Given the description of an element on the screen output the (x, y) to click on. 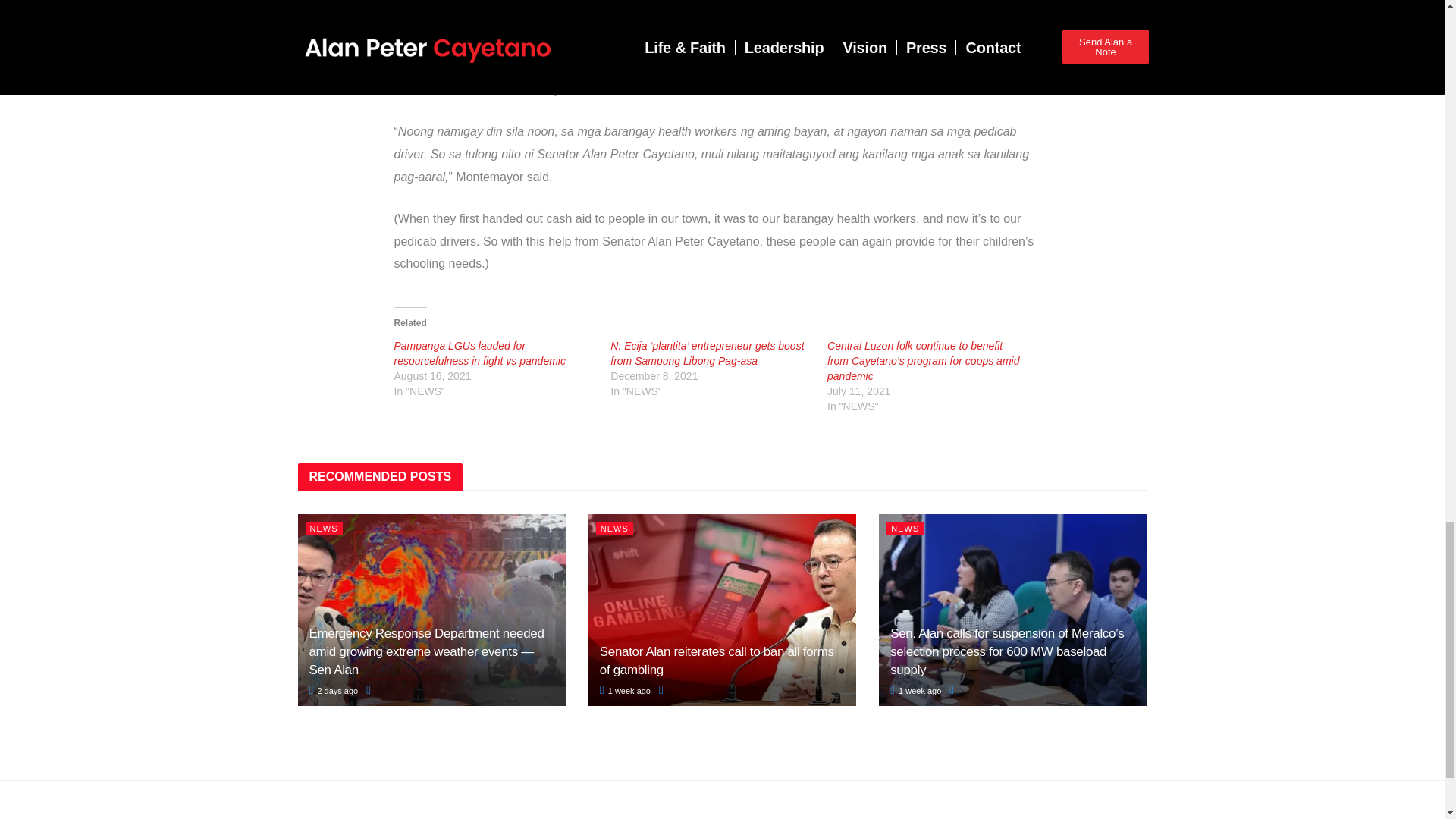
NEWS (323, 528)
2 days ago (333, 690)
